Given the description of an element on the screen output the (x, y) to click on. 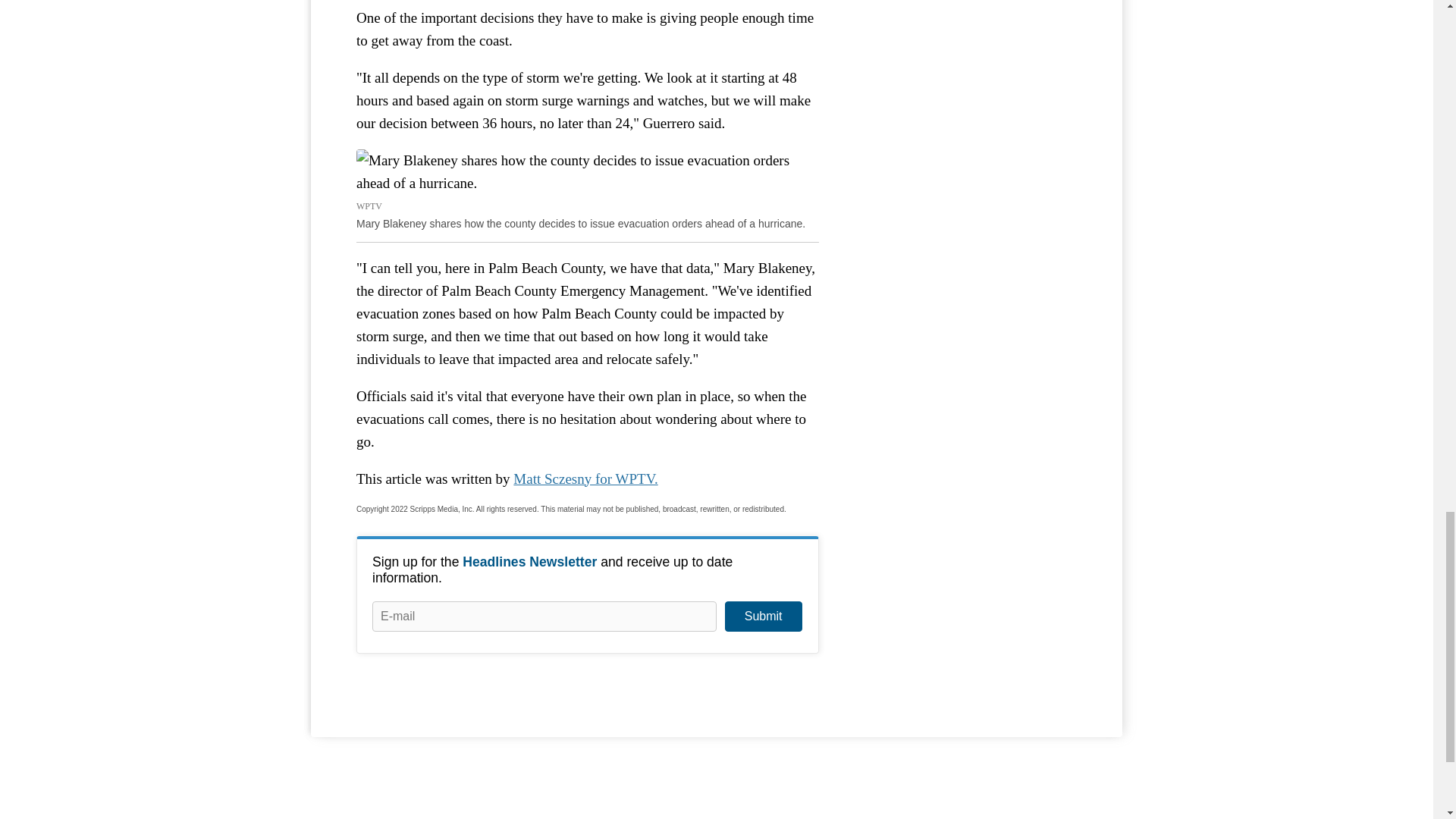
Submit (763, 616)
